Given the description of an element on the screen output the (x, y) to click on. 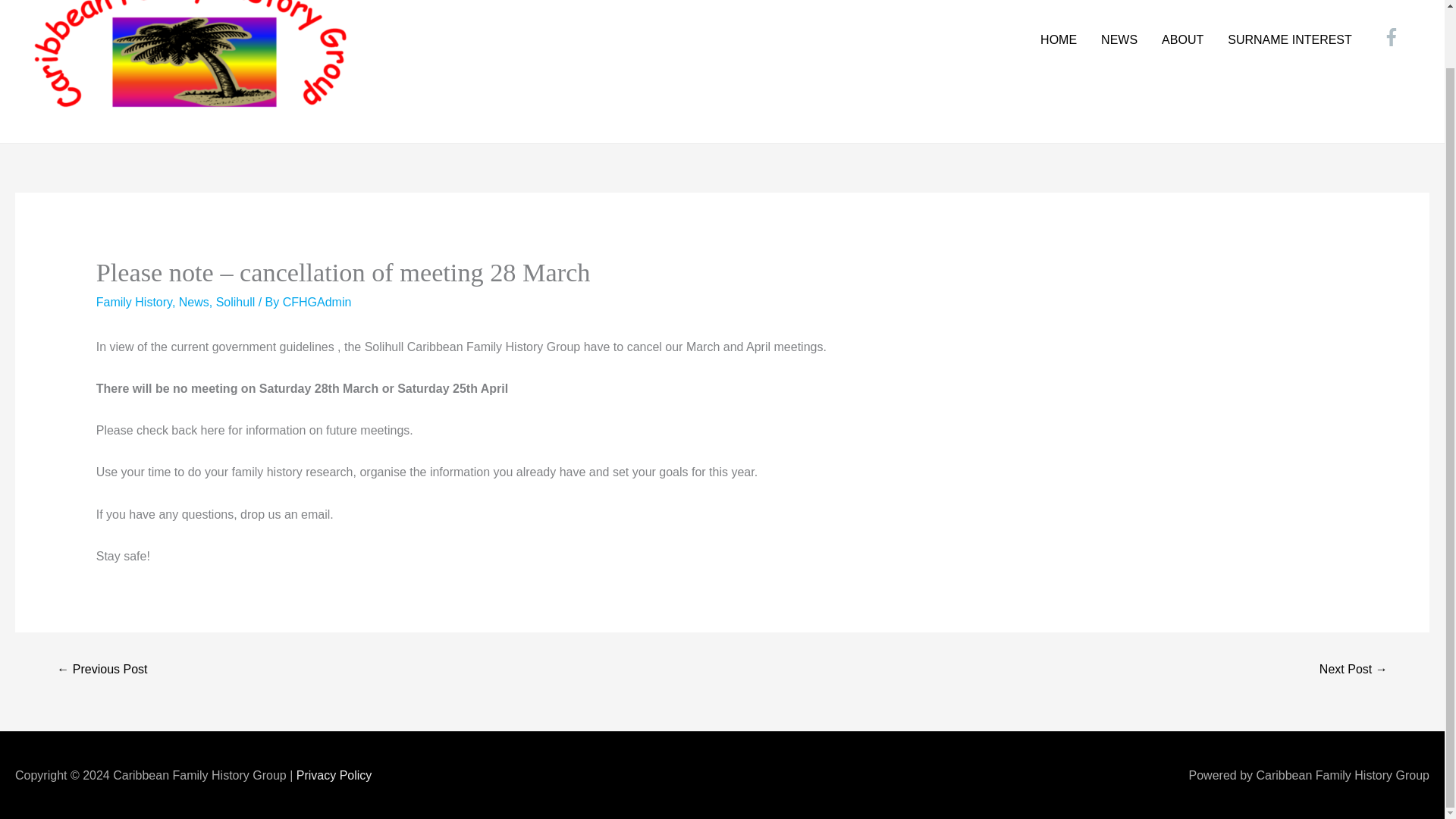
Family History (133, 301)
ABOUT (1182, 39)
CFHGAdmin (317, 301)
HOME (1058, 39)
SURNAME INTEREST (1289, 39)
News (194, 301)
Solihull (235, 301)
View all posts by CFHGAdmin (317, 301)
Privacy Policy (334, 775)
NEWS (1119, 39)
